Given the description of an element on the screen output the (x, y) to click on. 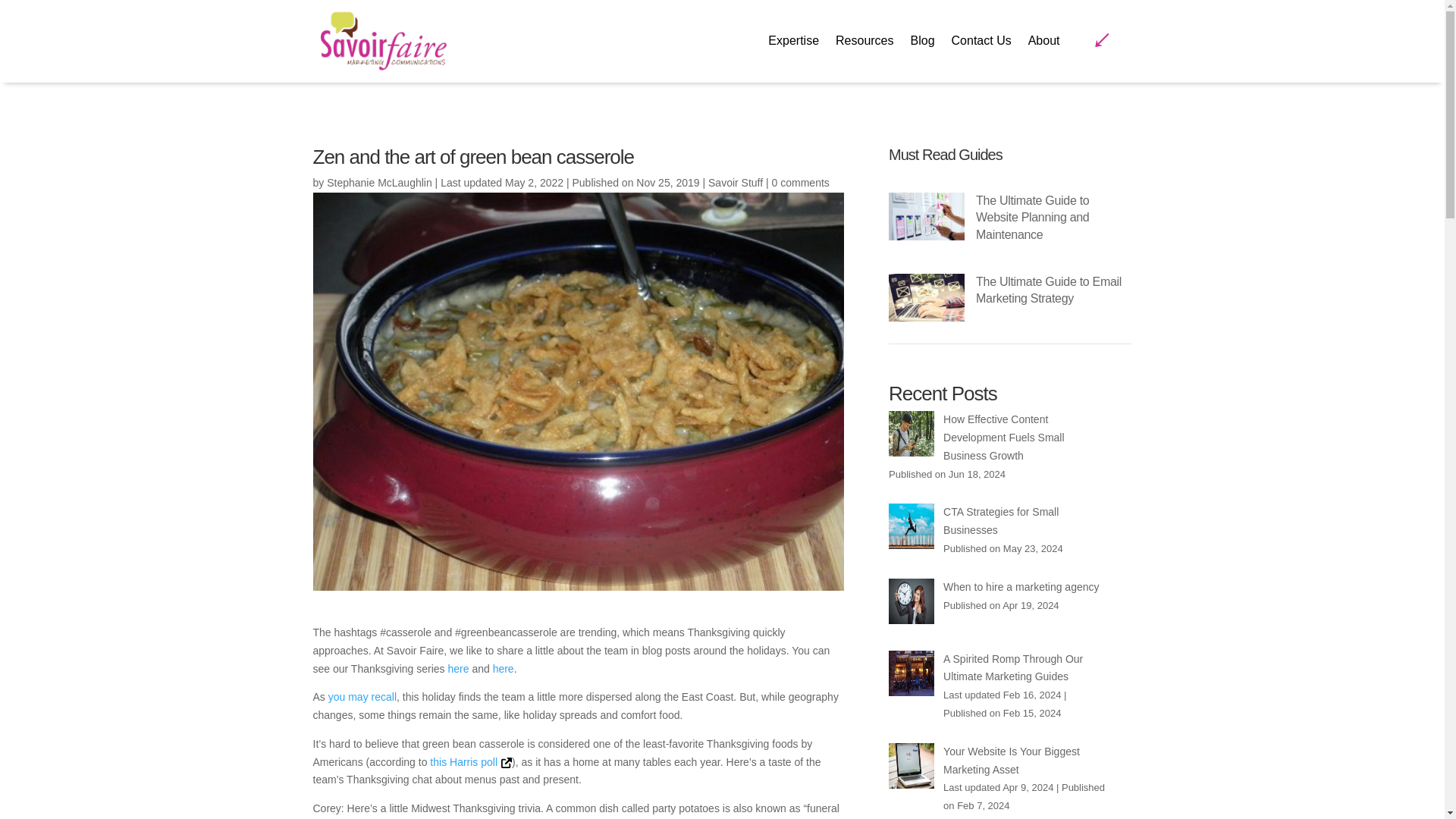
you may recall (362, 696)
Contact Us (981, 44)
Stephanie McLaughlin (379, 182)
Expertise (793, 44)
Blog (922, 44)
The Ultimate Guide to Website Planning and Maintenance (1032, 217)
here (503, 668)
Resources (864, 44)
SavoirFaire-logo-large-horizontal-200x100 (380, 41)
Posts by Stephanie McLaughlin (379, 182)
About (1043, 44)
Savoir Stuff (734, 182)
0 comments (800, 182)
The Ultimate Guide to Email Marketing Strategy (1048, 289)
